Given the description of an element on the screen output the (x, y) to click on. 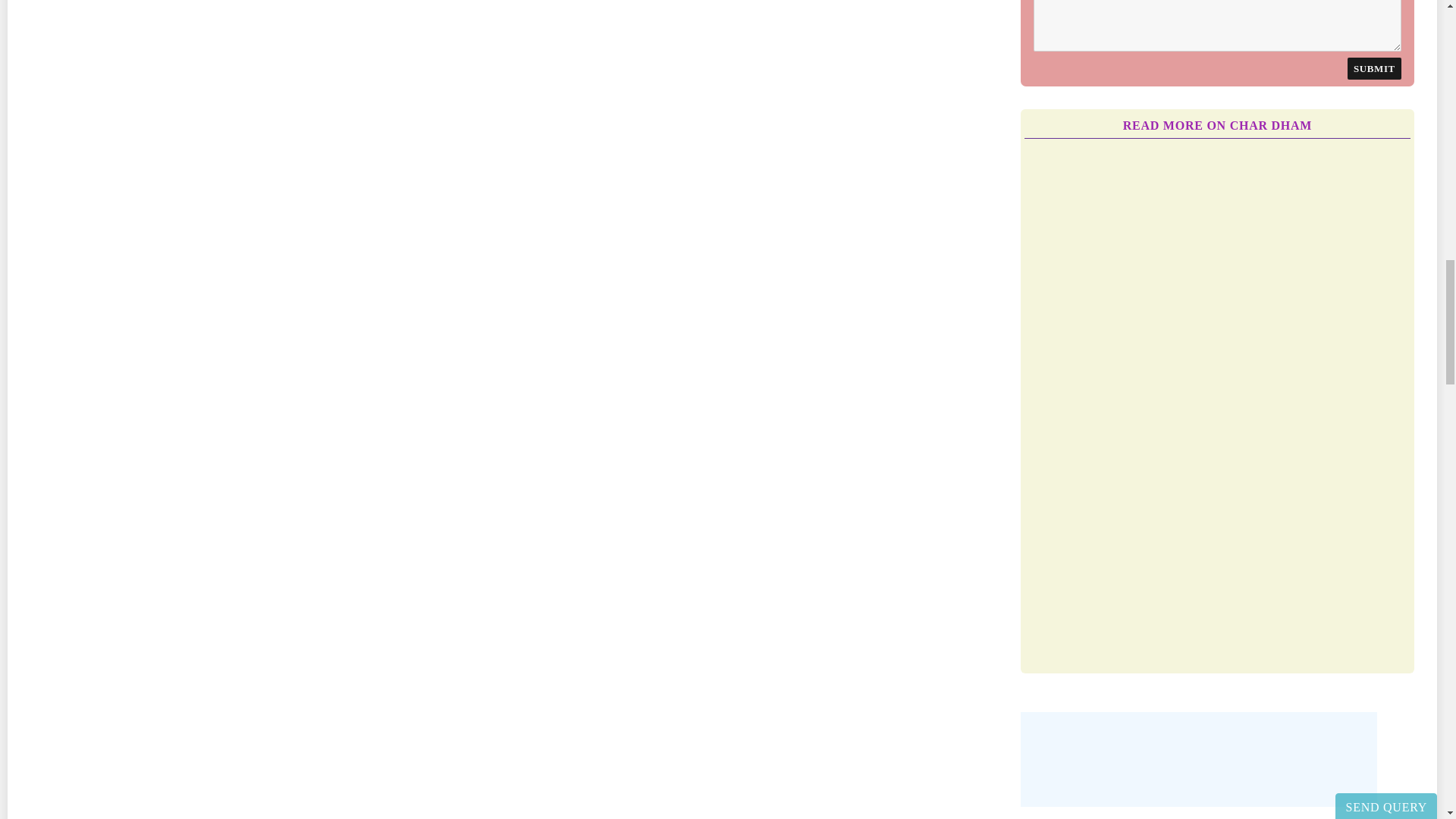
submit (1374, 68)
